Given the description of an element on the screen output the (x, y) to click on. 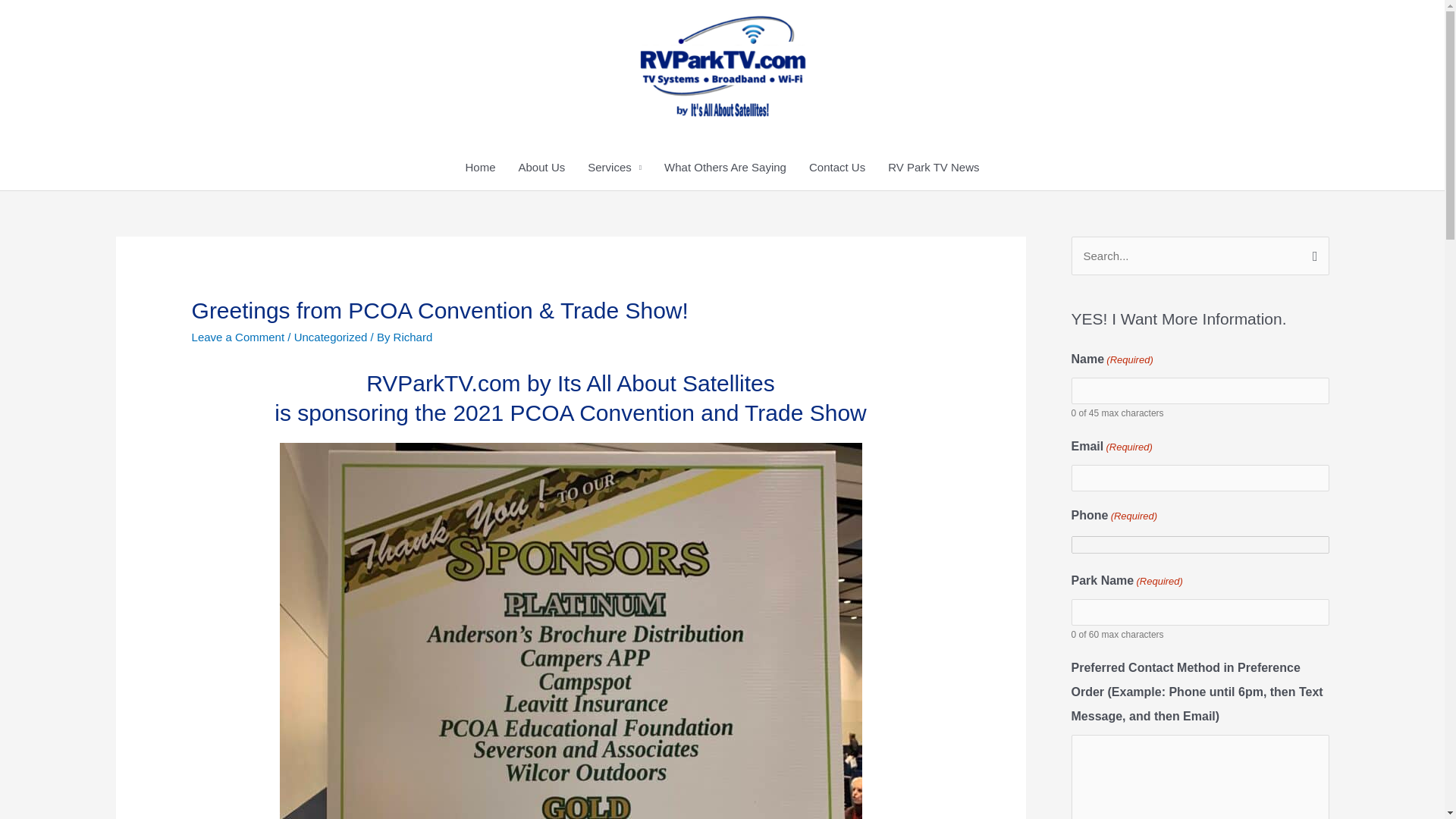
What Others Are Saying (724, 167)
Contact Us (836, 167)
Uncategorized (331, 336)
Home (479, 167)
Richard (412, 336)
About Us (541, 167)
Services (614, 167)
Search (1312, 251)
RV Park TV News (933, 167)
Search (1312, 251)
